Given the description of an element on the screen output the (x, y) to click on. 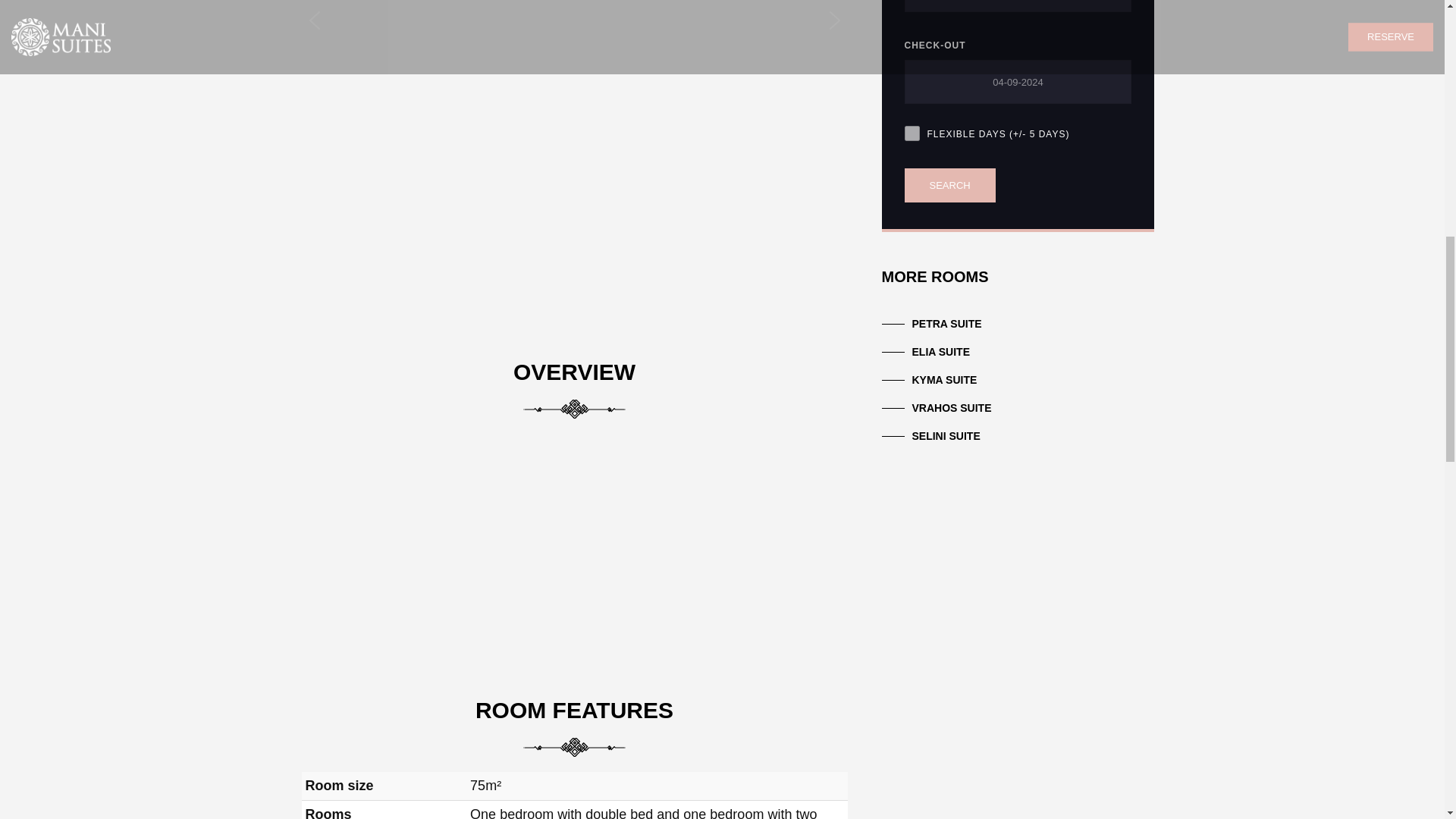
5 (911, 133)
KYMA SUITE (943, 380)
Search (949, 185)
VRAHOS SUITE (951, 407)
PETRA SUITE (946, 323)
SELINI SUITE (945, 435)
Search (949, 185)
ELIA SUITE (940, 351)
Search (949, 185)
